Given the description of an element on the screen output the (x, y) to click on. 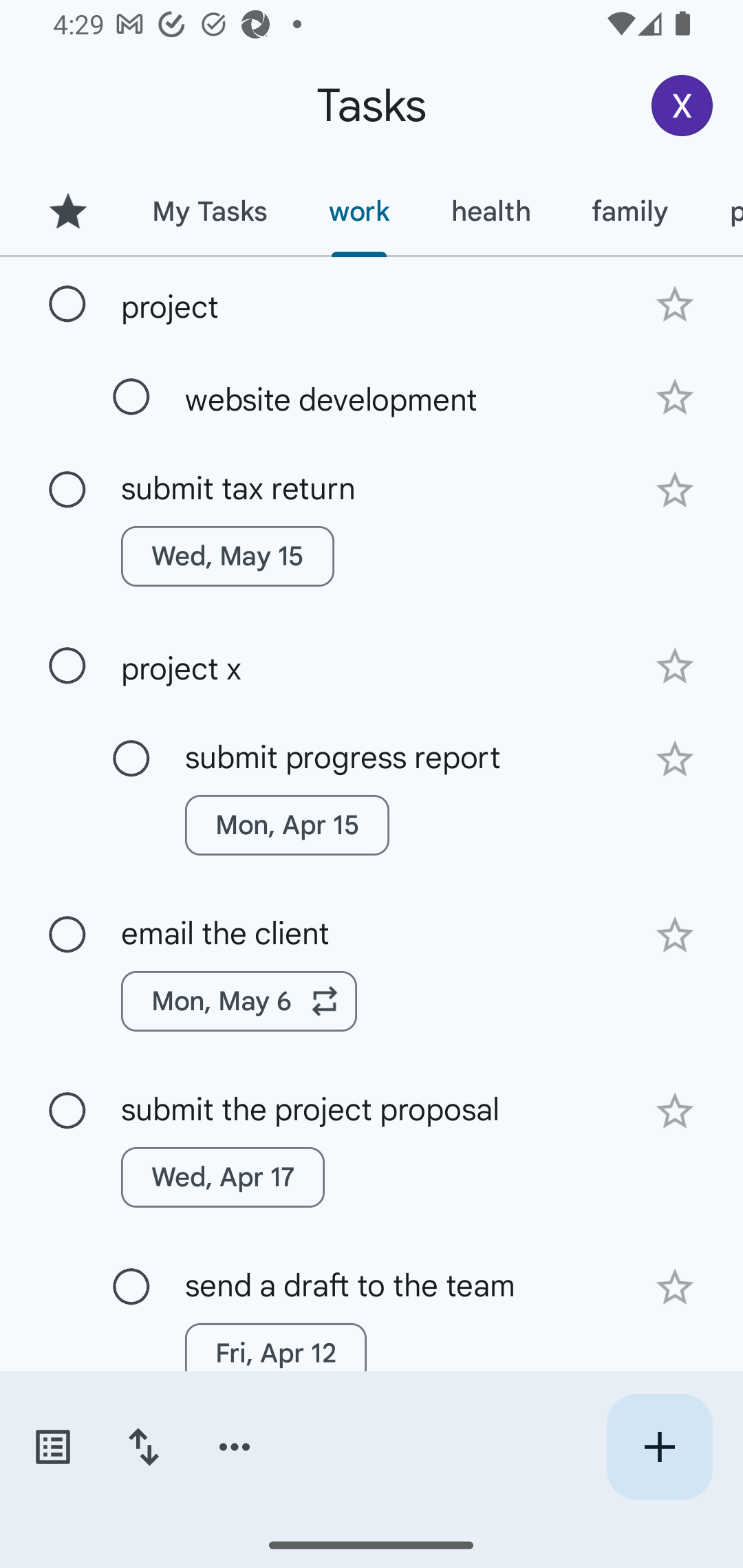
Starred (67, 211)
My Tasks (209, 211)
health (490, 211)
family (629, 211)
Add star (674, 303)
Mark as complete (67, 304)
Add star (674, 397)
Mark as complete (131, 397)
Add star (674, 490)
Mark as complete (67, 489)
Wed, May 15 (227, 556)
Add star (674, 665)
Mark as complete (67, 666)
Add star (674, 758)
Mark as complete (131, 759)
Mon, Apr 15 (287, 824)
Add star (674, 935)
Mark as complete (67, 935)
Mon, May 6 (239, 1001)
Add star (674, 1111)
Mark as complete (67, 1110)
Wed, Apr 17 (222, 1177)
Add star (674, 1286)
Mark as complete (131, 1287)
Fri, Apr 12 (276, 1352)
Switch task lists (52, 1447)
Create new task (659, 1446)
Change sort order (143, 1446)
More options (234, 1446)
